Given the description of an element on the screen output the (x, y) to click on. 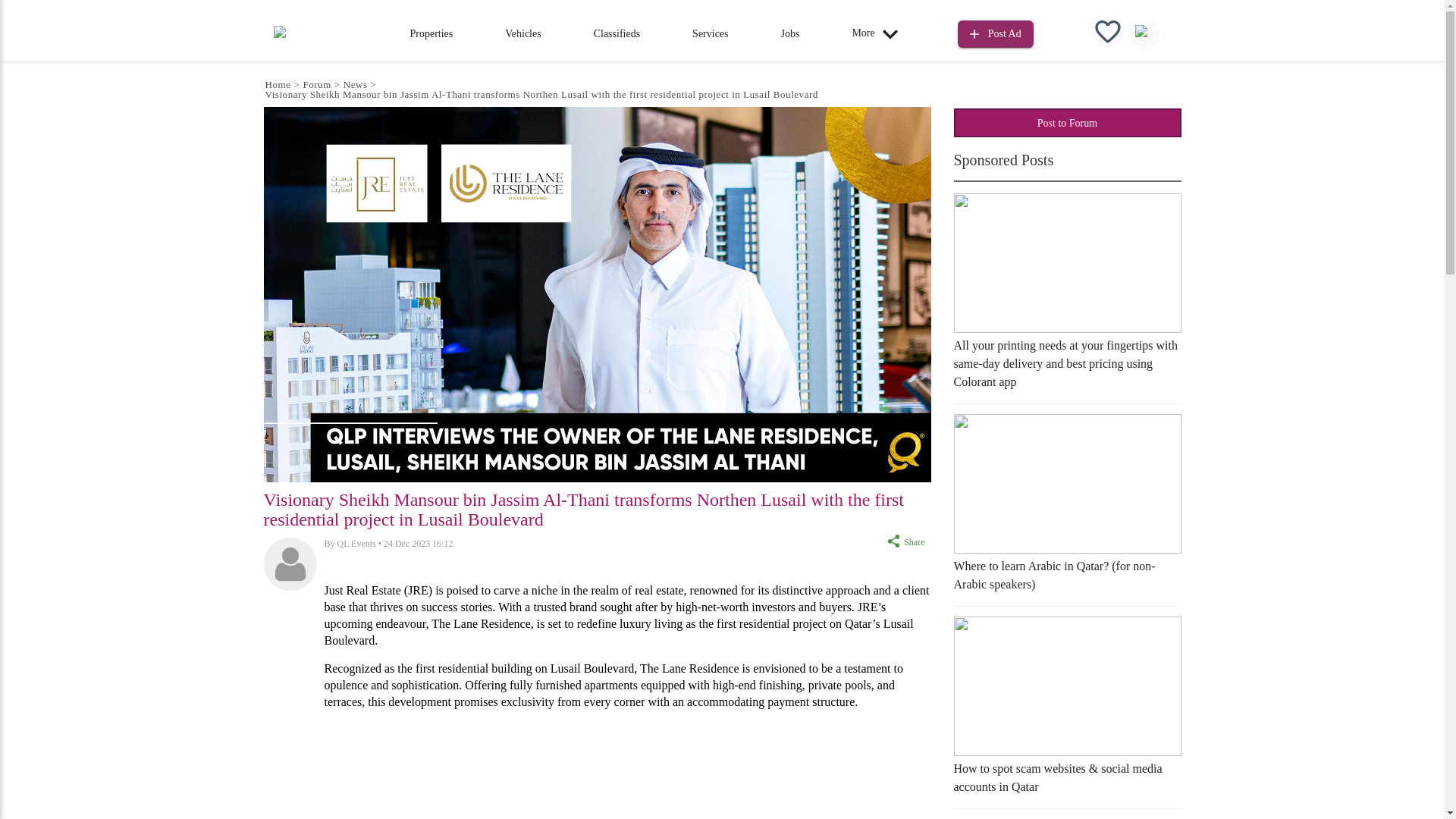
View user profile. (356, 543)
Classifieds (617, 33)
YouTube video player (627, 770)
Post Ad (995, 34)
Post Ad (995, 32)
More (877, 33)
